Given the description of an element on the screen output the (x, y) to click on. 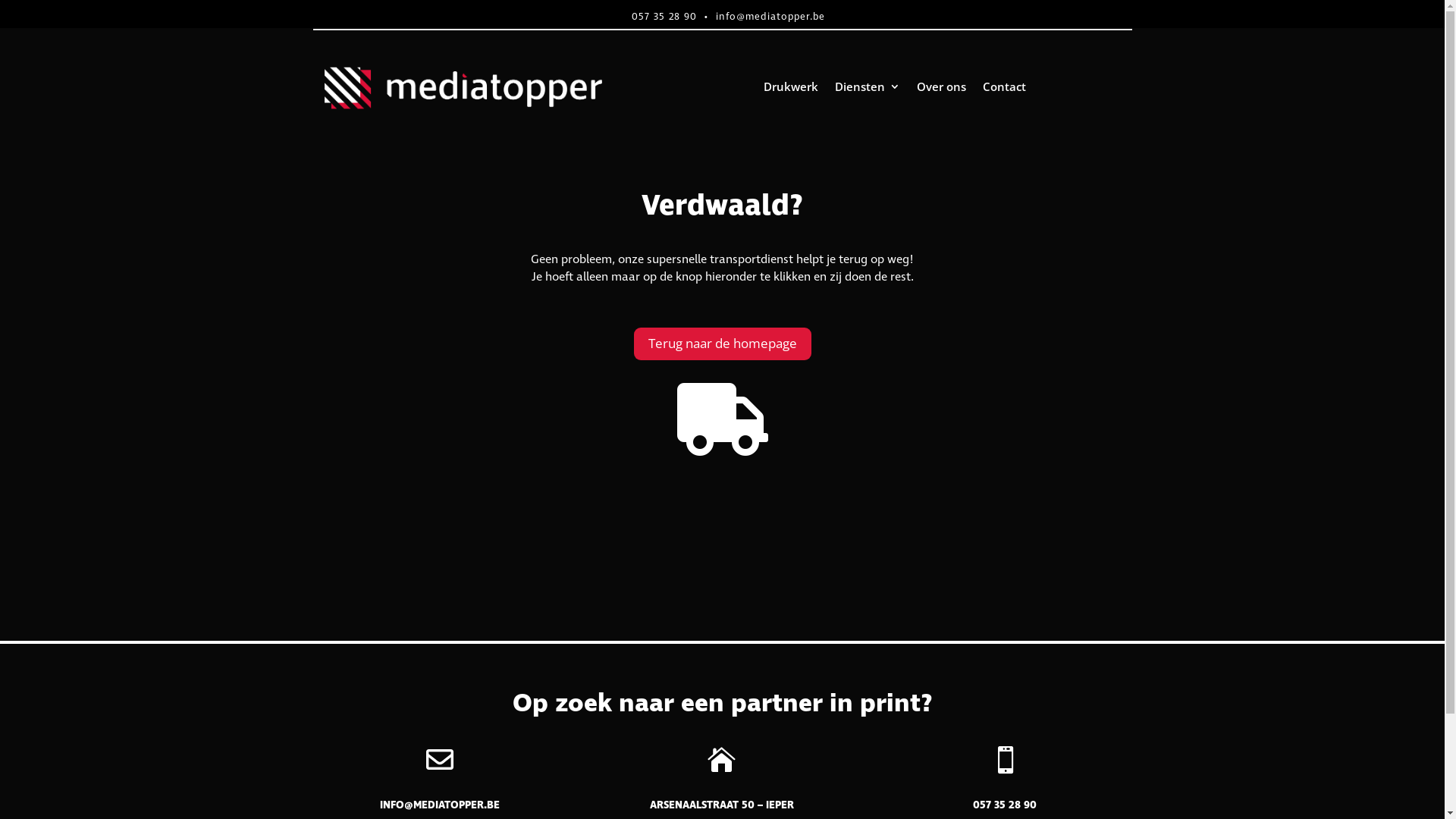
Drukwerk Element type: text (790, 89)
Terug naar de homepage Element type: text (722, 343)
057 35 28 90 Element type: text (663, 16)
Over ons Element type: text (941, 89)
Contact Element type: text (1004, 89)
info@mediatopper.be Element type: text (770, 16)
INFO@MEDIATOPPER.BE Element type: text (439, 804)
Diensten Element type: text (867, 89)
